Given the description of an element on the screen output the (x, y) to click on. 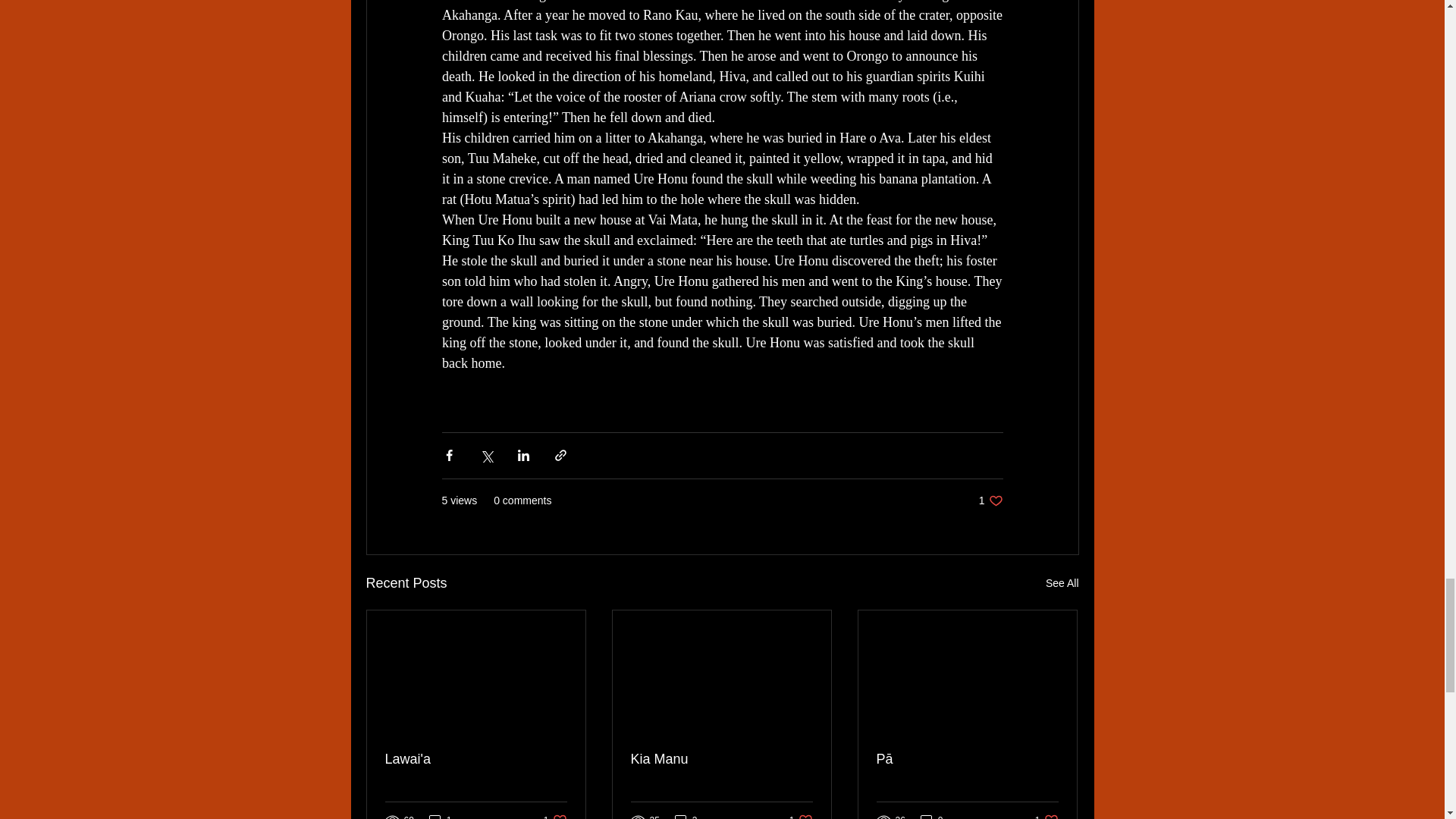
1 (440, 816)
See All (1061, 583)
Lawai'a (990, 500)
